Given the description of an element on the screen output the (x, y) to click on. 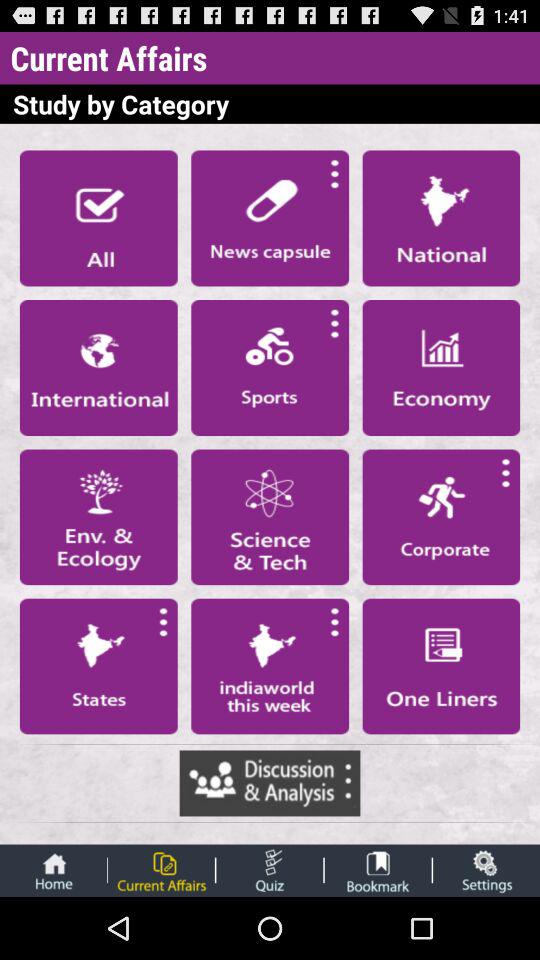
news capsule (270, 218)
